Given the description of an element on the screen output the (x, y) to click on. 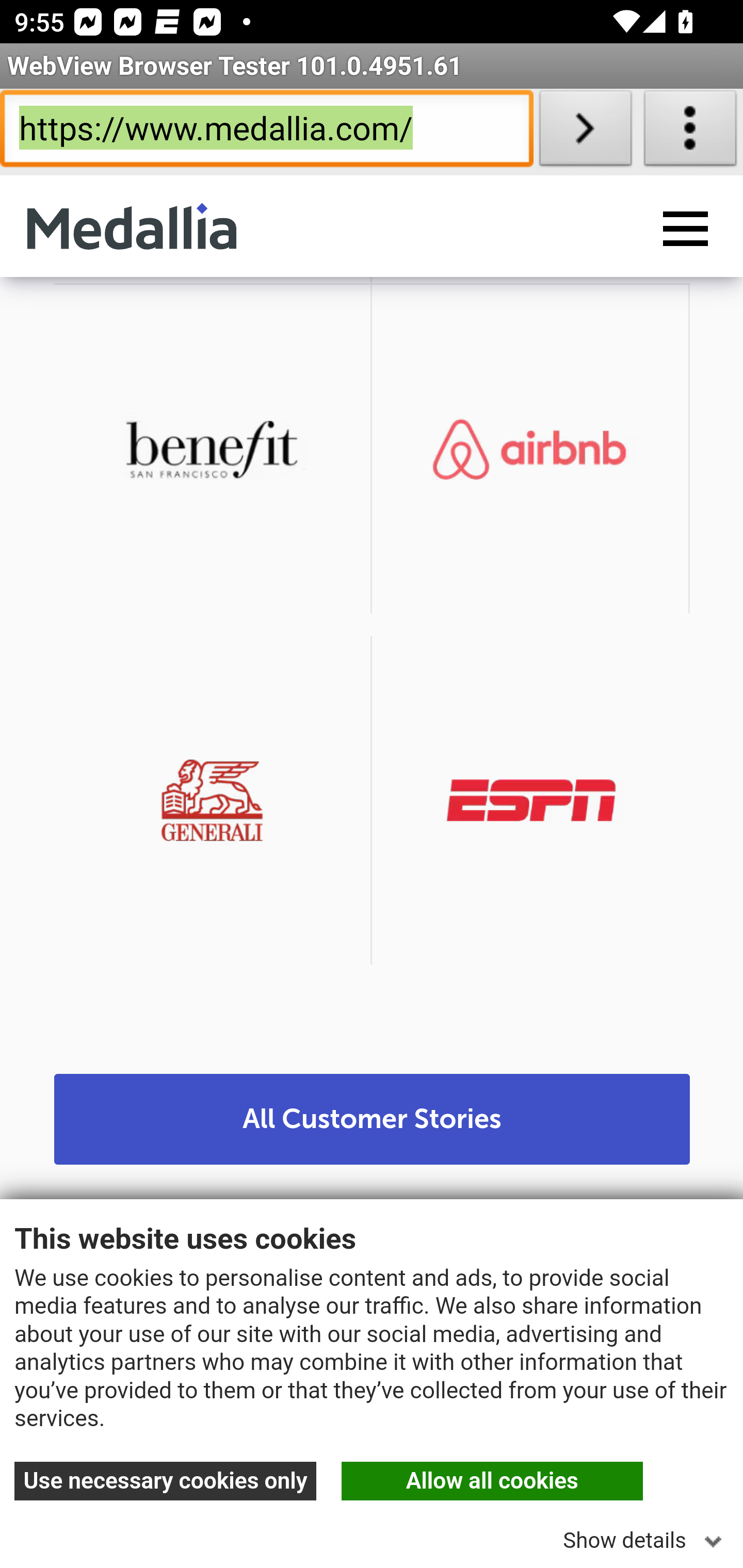
https://www.medallia.com/ (266, 132)
Load URL (585, 132)
About WebView (690, 132)
Medallia (131, 227)
benefit-cosmetics (213, 450)
airbnb (530, 450)
espn-case-study (531, 801)
generali (213, 800)
All Customer Stories (372, 1121)
Use necessary cookies only (166, 1482)
Allow all cookies (491, 1482)
Show details (646, 1534)
